Given the description of an element on the screen output the (x, y) to click on. 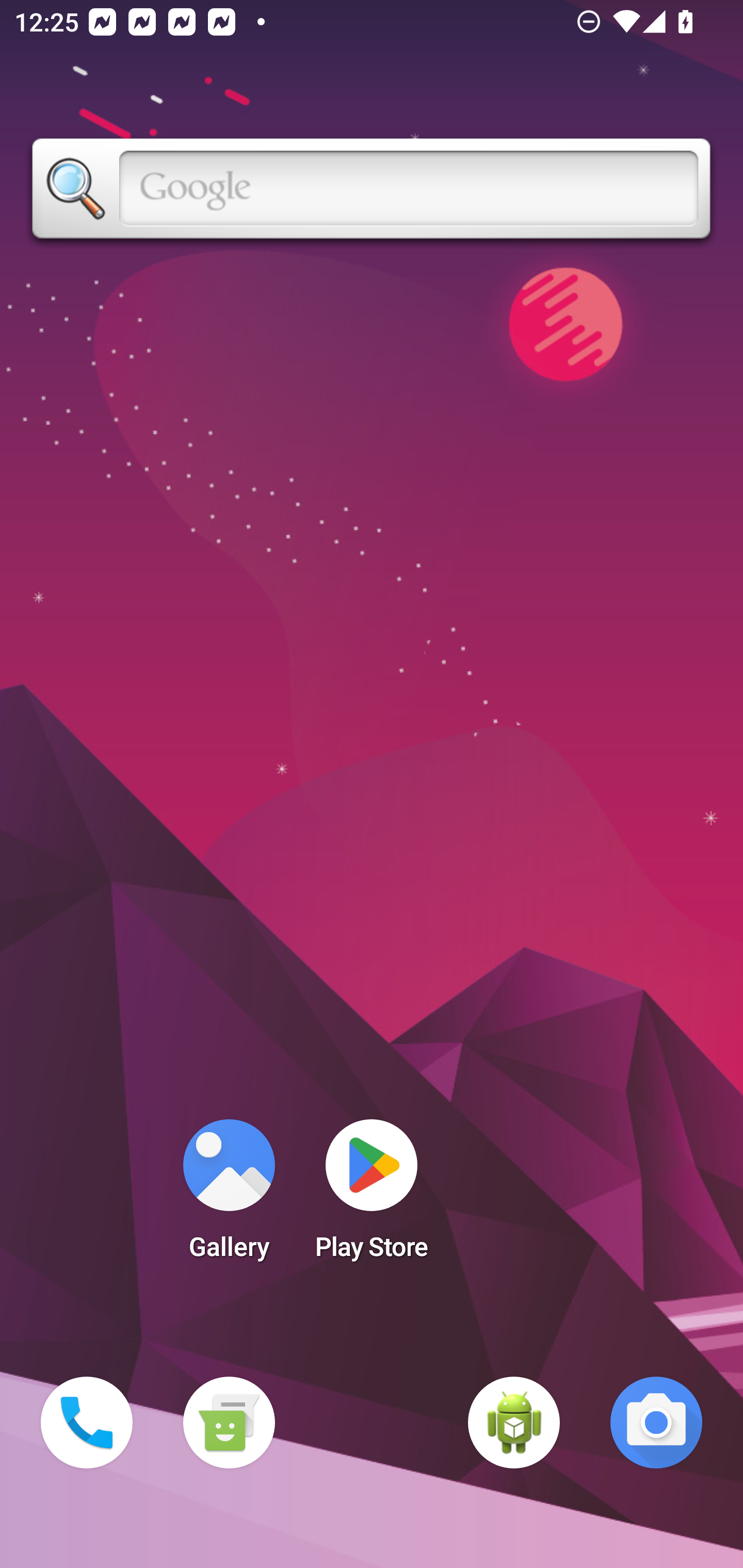
Gallery (228, 1195)
Play Store (371, 1195)
Phone (86, 1422)
Messaging (228, 1422)
WebView Browser Tester (513, 1422)
Camera (656, 1422)
